Given the description of an element on the screen output the (x, y) to click on. 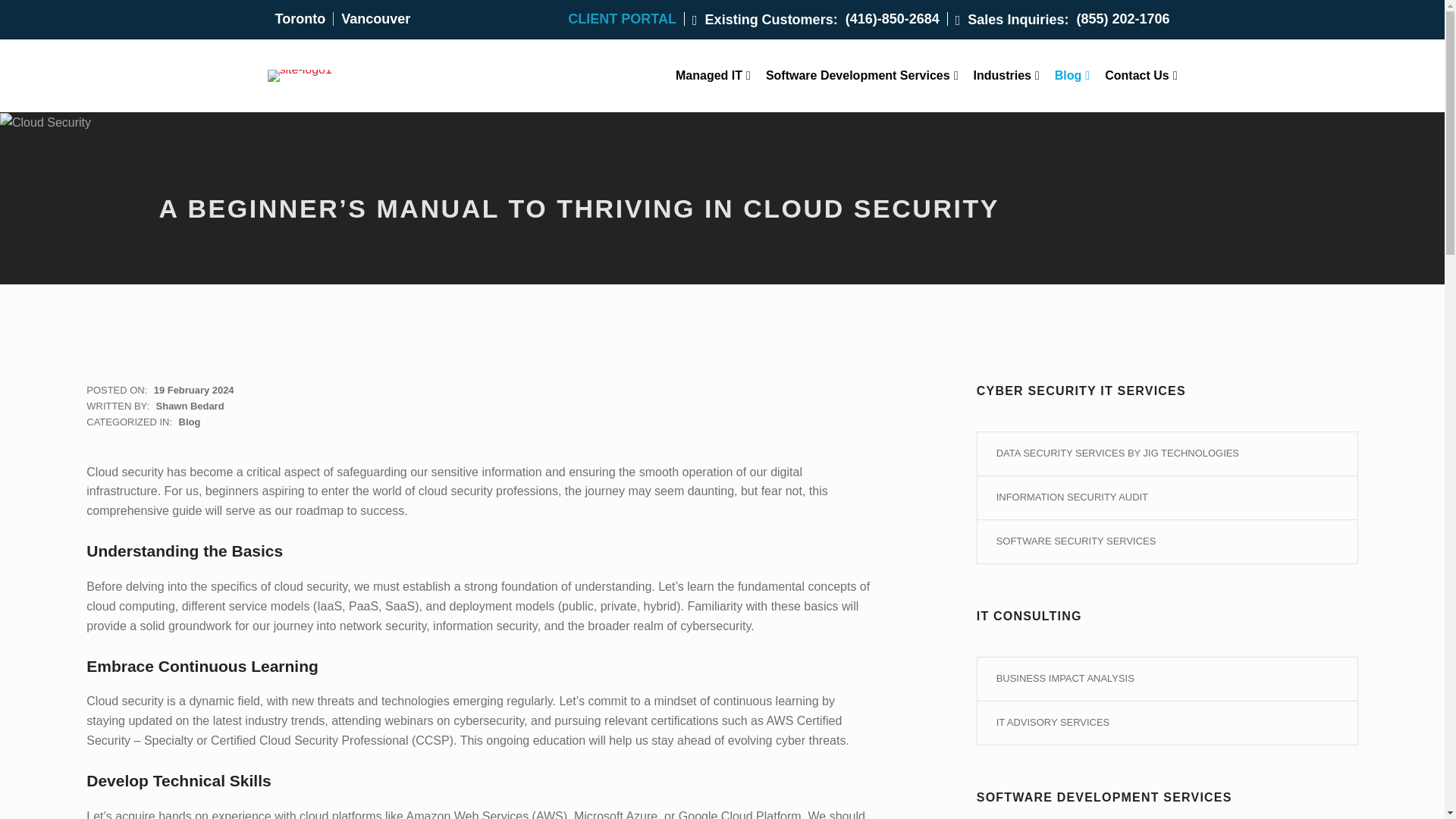
Posted on: 19 February 2024 (194, 389)
Toronto (299, 18)
Managed IT (713, 75)
CLIENT PORTAL (625, 18)
site-logo1 (298, 75)
Software Development Services (861, 75)
Sales Inquiries: (1011, 19)
Existing Customers: (765, 19)
Vancouver (375, 18)
